Given the description of an element on the screen output the (x, y) to click on. 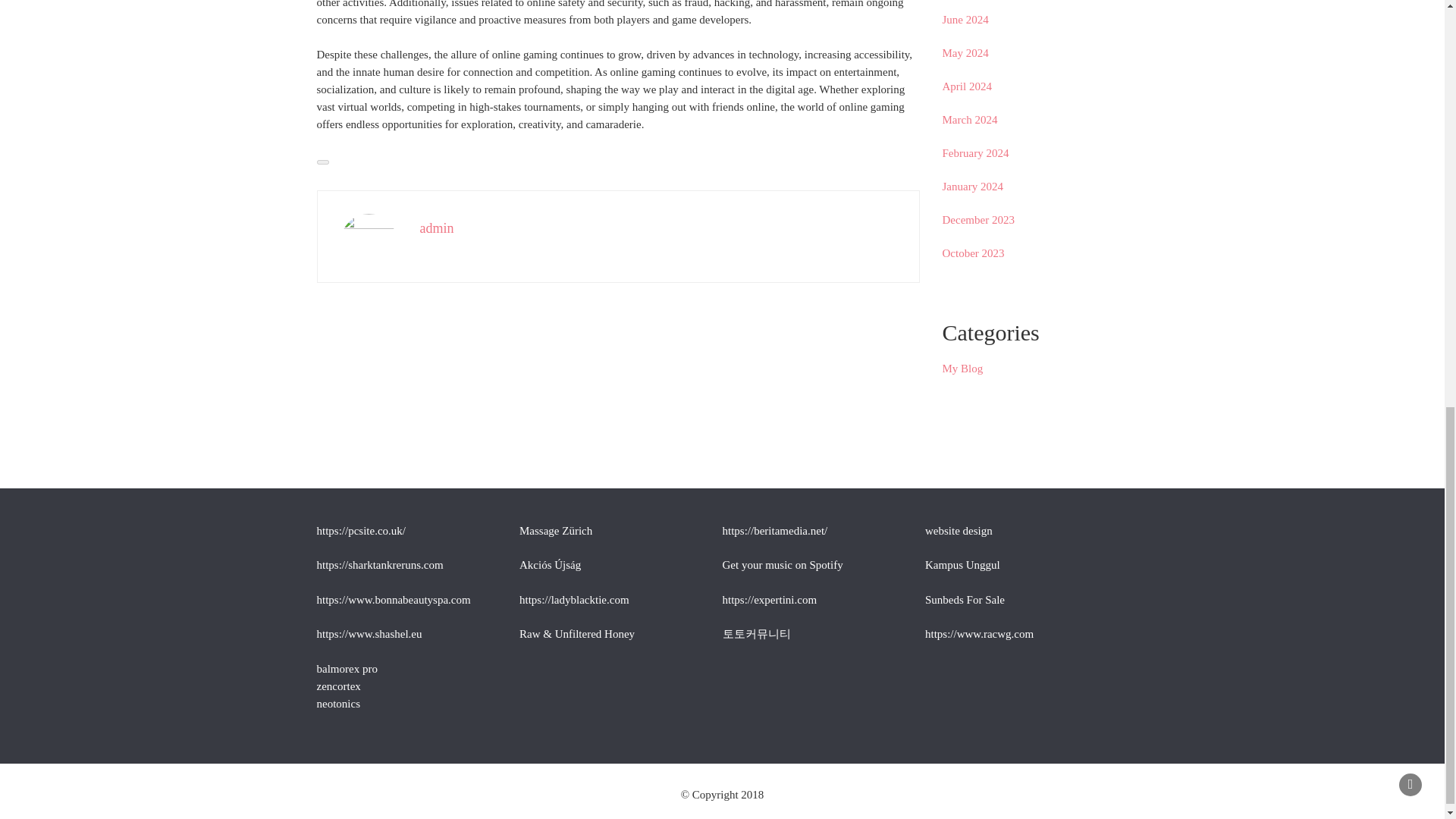
February 2024 (975, 152)
website design (958, 530)
April 2024 (966, 86)
May 2024 (965, 52)
January 2024 (972, 186)
March 2024 (969, 119)
Sunbeds For Sale (964, 598)
October 2023 (973, 253)
My Blog (962, 368)
admin (437, 227)
Get your music on Spotify (782, 564)
June 2024 (965, 19)
December 2023 (977, 219)
Kampus Unggul (962, 564)
